Given the description of an element on the screen output the (x, y) to click on. 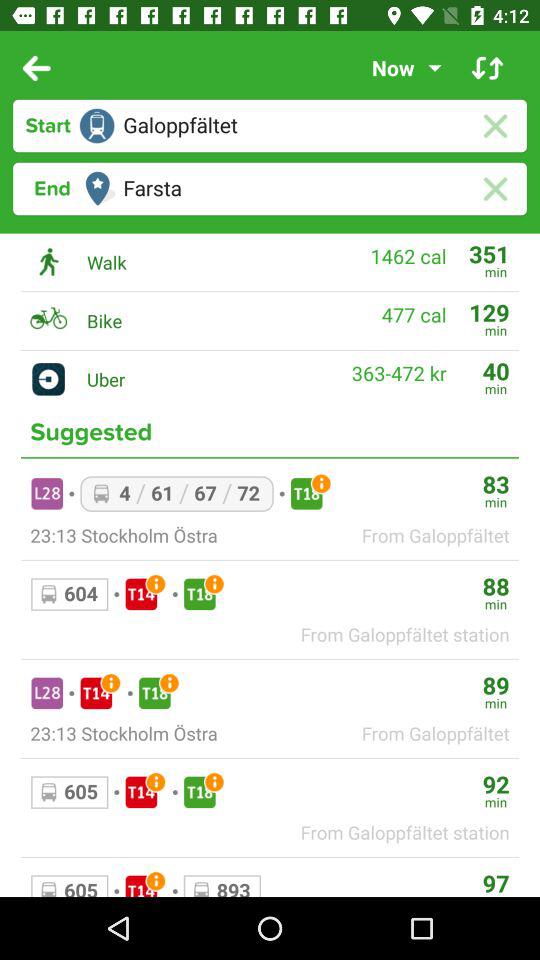
close the file (494, 125)
